Given the description of an element on the screen output the (x, y) to click on. 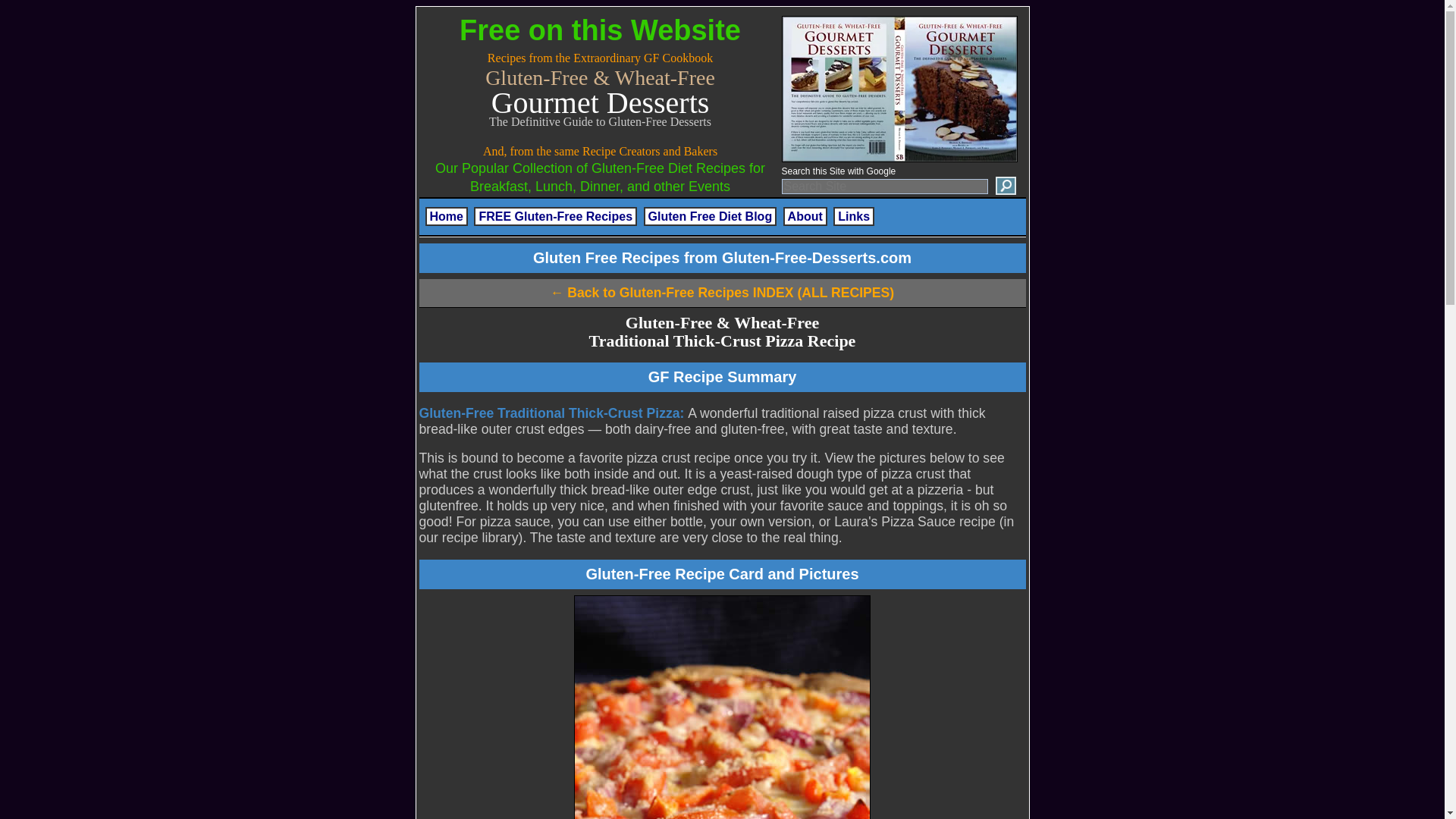
About (805, 216)
Links (853, 216)
Gluten Free Diet Blog (710, 216)
FREE Gluten-Free Recipes (555, 216)
Home (446, 216)
